Given the description of an element on the screen output the (x, y) to click on. 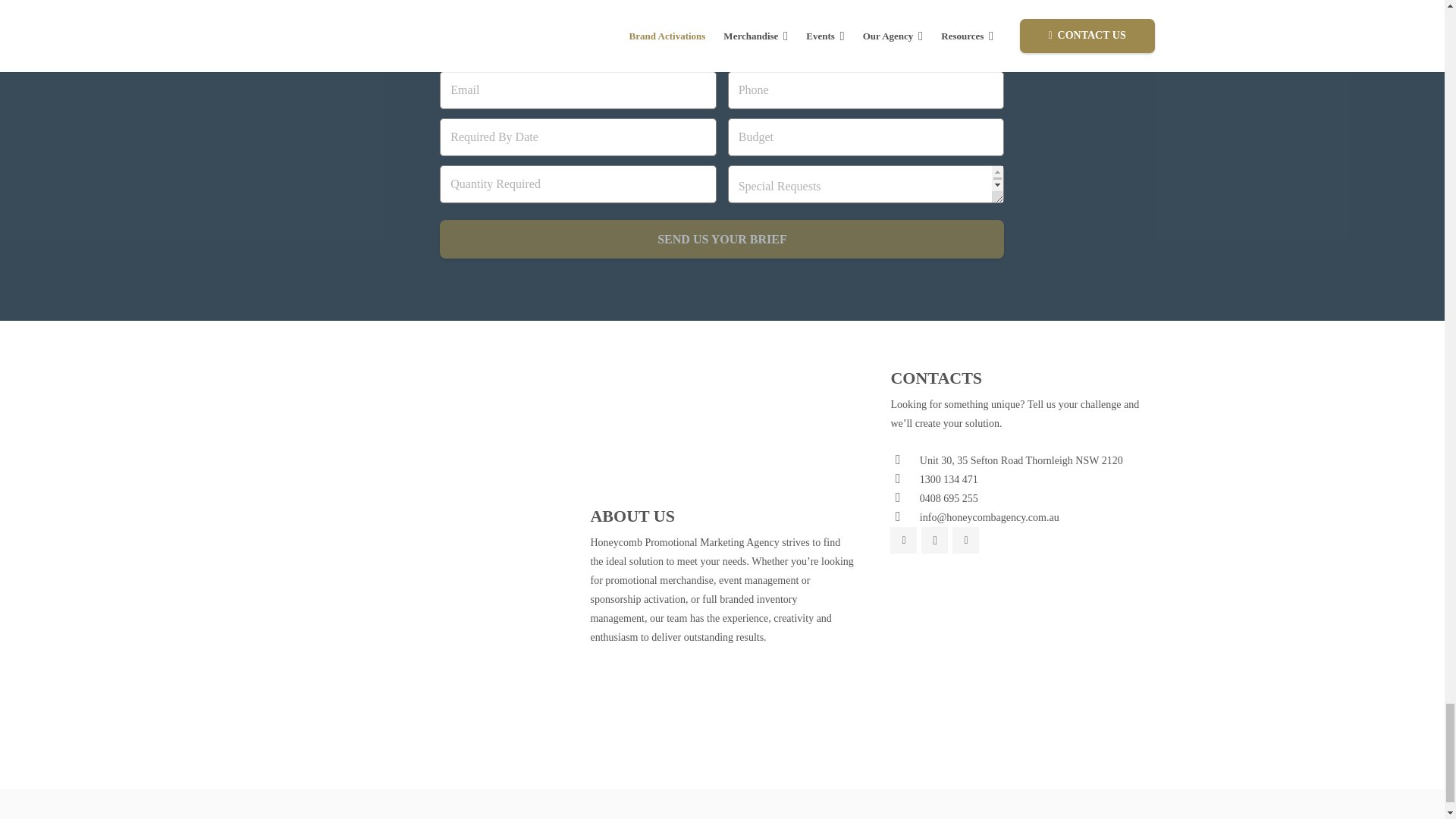
Awards-2019-2nd-Event-Merchandise (509, 457)
2020AppaAward-Winner-removebg (509, 398)
APPApng (509, 509)
Social-FINALIST-BADGE (333, 457)
ppaipng (421, 509)
Awards-2019-W-Sustainable-Eco (421, 457)
Distributor Self-Promotion Winner 2022 logo (333, 398)
Membership Banner-600x150px-150DPI (421, 569)
YouTube (965, 540)
Facebook (903, 540)
Instagram (934, 540)
